Given the description of an element on the screen output the (x, y) to click on. 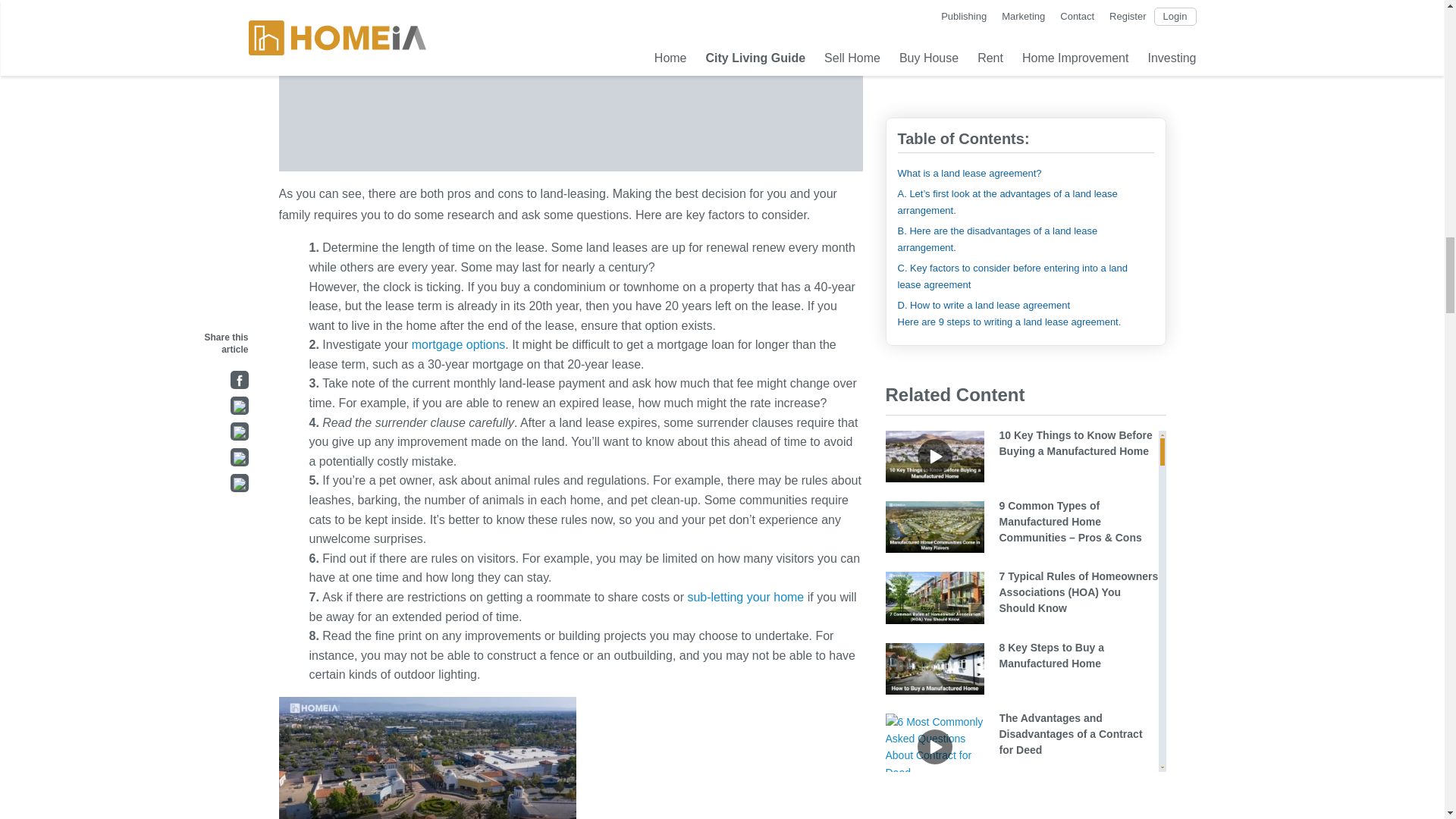
10 Most Affordable Places to Live in Texas (346, 6)
